Given the description of an element on the screen output the (x, y) to click on. 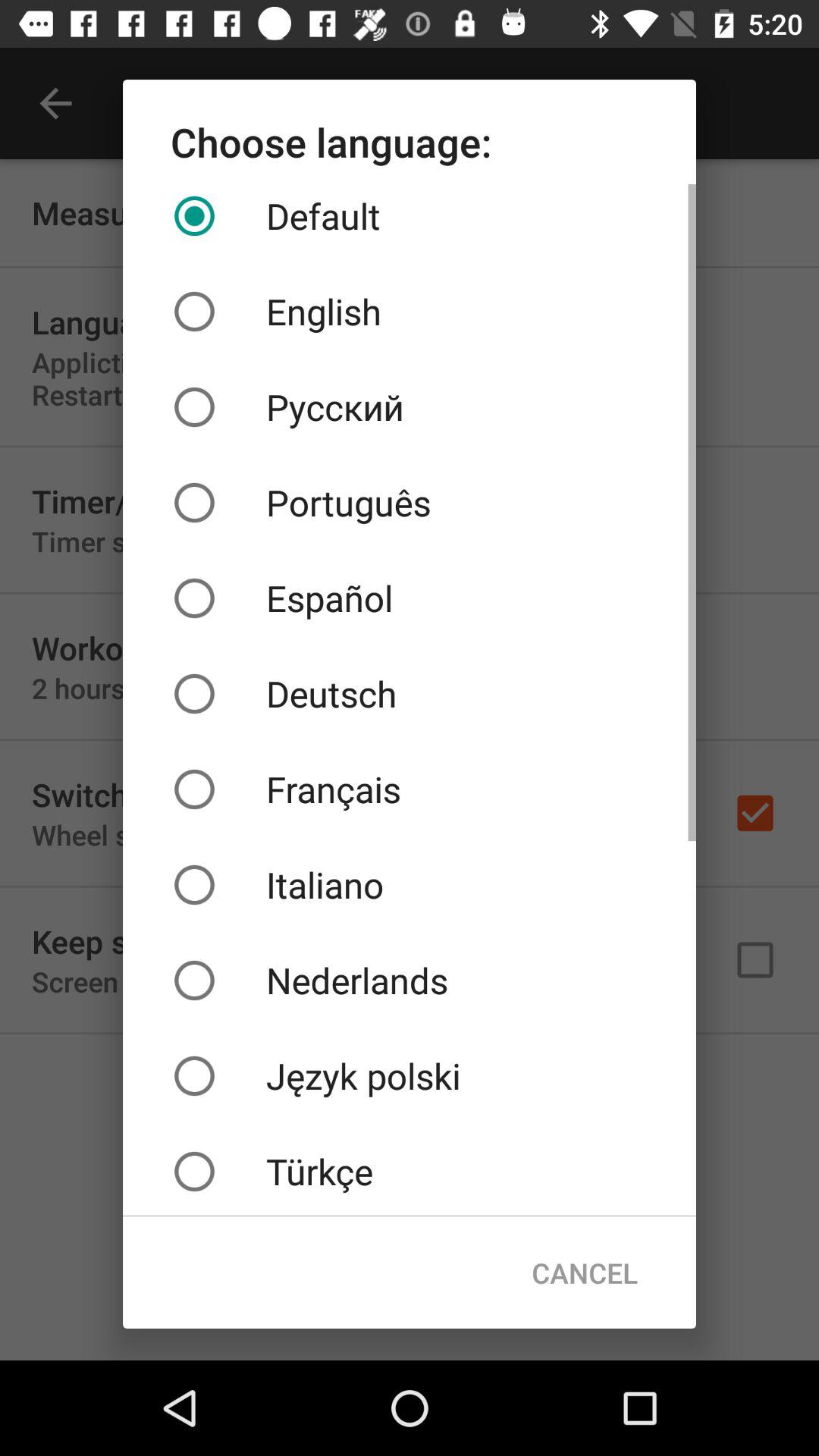
scroll until the cancel (584, 1272)
